Given the description of an element on the screen output the (x, y) to click on. 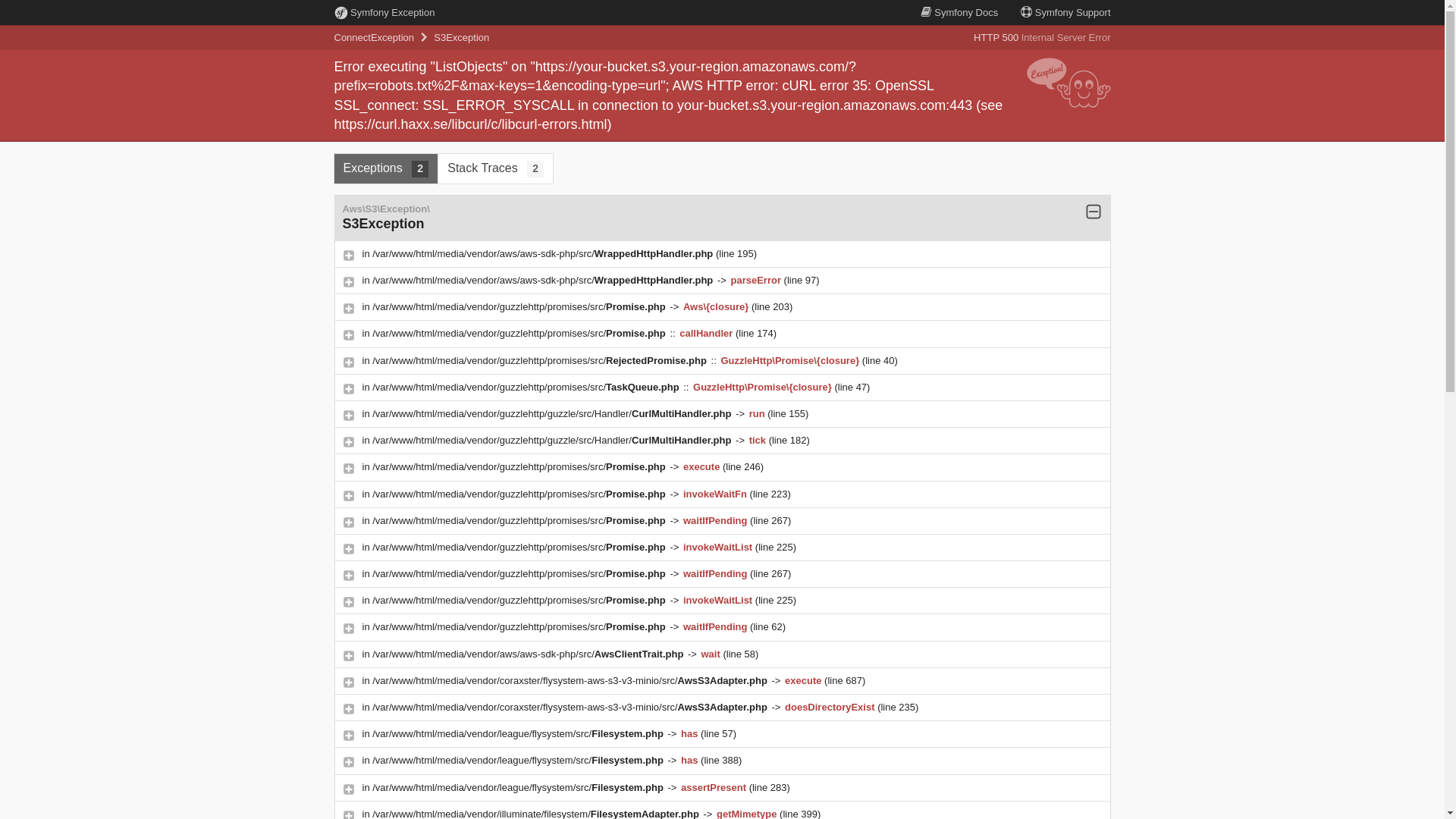
S3Exception Element type: text (461, 37)
Symfony Docs Element type: text (958, 12)
ConnectException Element type: text (373, 37)
Symfony Support Element type: text (1065, 12)
